Given the description of an element on the screen output the (x, y) to click on. 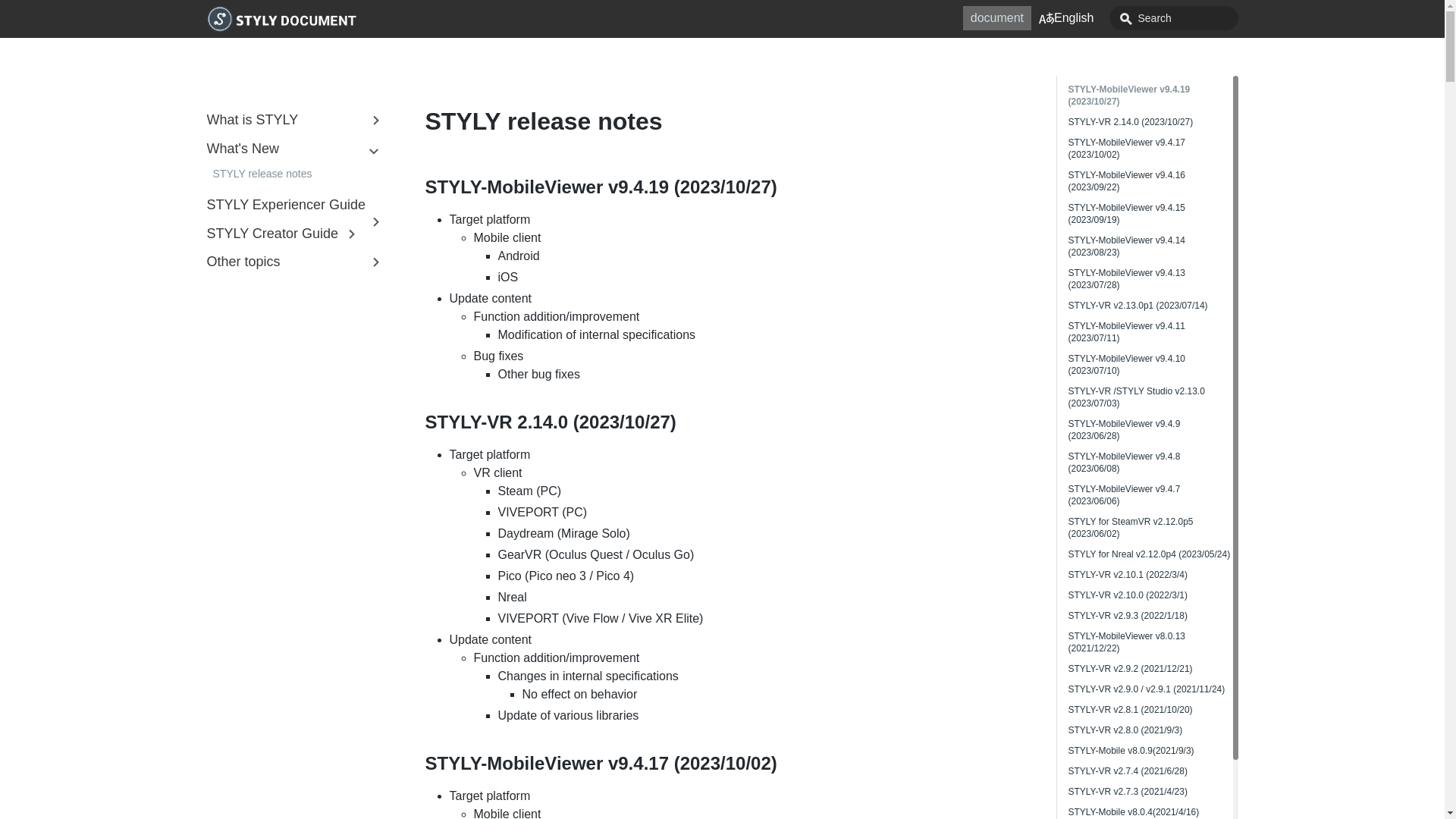
STYLY-VR v2.8.1 (2021/10/20) Element type: text (1129, 709)
STYLY-VR v2.13.0p1 (2023/07/14) Element type: text (1137, 305)
STYLY-VR /STYLY Studio v2.13.0 (2023/07/03) Element type: text (1135, 396)
Search Element type: hover (1172, 18)
STYLY-VR v2.8.0 (2021/9/3) Element type: text (1124, 729)
STYLY-MobileViewer v9.4.16 (2023/09/22) Element type: text (1126, 180)
STYLY for Nreal v2.12.0p4 (2023/05/24) Element type: text (1148, 554)
STYLY-VR v2.10.1 (2022/3/4) Element type: text (1126, 574)
STYLY-MobileViewer v9.4.14 (2023/08/23) Element type: text (1126, 246)
STYLY-MobileViewer v8.0.13 (2021/12/22) Element type: text (1126, 641)
STYLY-VR v2.7.4 (2021/6/28) Element type: text (1126, 770)
STYLY-Mobile v8.0.4(2021/4/16) Element type: text (1132, 811)
document Element type: text (997, 18)
English Element type: text (1066, 18)
STYLY-VR v2.9.0 / v2.9.1 (2021/11/24) Element type: text (1145, 689)
STYLY-Mobile v8.0.9(2021/9/3) Element type: text (1130, 750)
STYLY-MobileViewer v9.4.11 (2023/07/11) Element type: text (1126, 331)
STYLY for SteamVR v2.12.0p5 (2023/06/02) Element type: text (1129, 527)
STYLY-MobileViewer v9.4.7 (2023/06/06) Element type: text (1123, 494)
STYLY-MobileViewer v9.4.8 (2023/06/08) Element type: text (1123, 462)
STYLY-VR v2.10.0 (2022/3/1) Element type: text (1126, 594)
STYLY release notes Element type: text (297, 174)
STYLY-MobileViewer v9.4.9 (2023/06/28) Element type: text (1123, 429)
STYLY-MobileViewer v9.4.19 (2023/10/27) Element type: text (1128, 95)
STYLY-VR v2.9.3 (2022/1/18) Element type: text (1126, 615)
STYLY-MobileViewer v9.4.13 (2023/07/28) Element type: text (1126, 278)
STYLY-MobileViewer v9.4.17 (2023/10/02) Element type: text (1126, 148)
STYLY-VR 2.14.0 (2023/10/27) Element type: text (1129, 121)
STYLY-MobileViewer v9.4.15 (2023/09/19) Element type: text (1126, 213)
STYLY-VR v2.9.2 (2021/12/21) Element type: text (1129, 668)
STYLY-MobileViewer v9.4.10 (2023/07/10) Element type: text (1126, 364)
STYLY-VR v2.7.3 (2021/4/23) Element type: text (1126, 791)
